Given the description of an element on the screen output the (x, y) to click on. 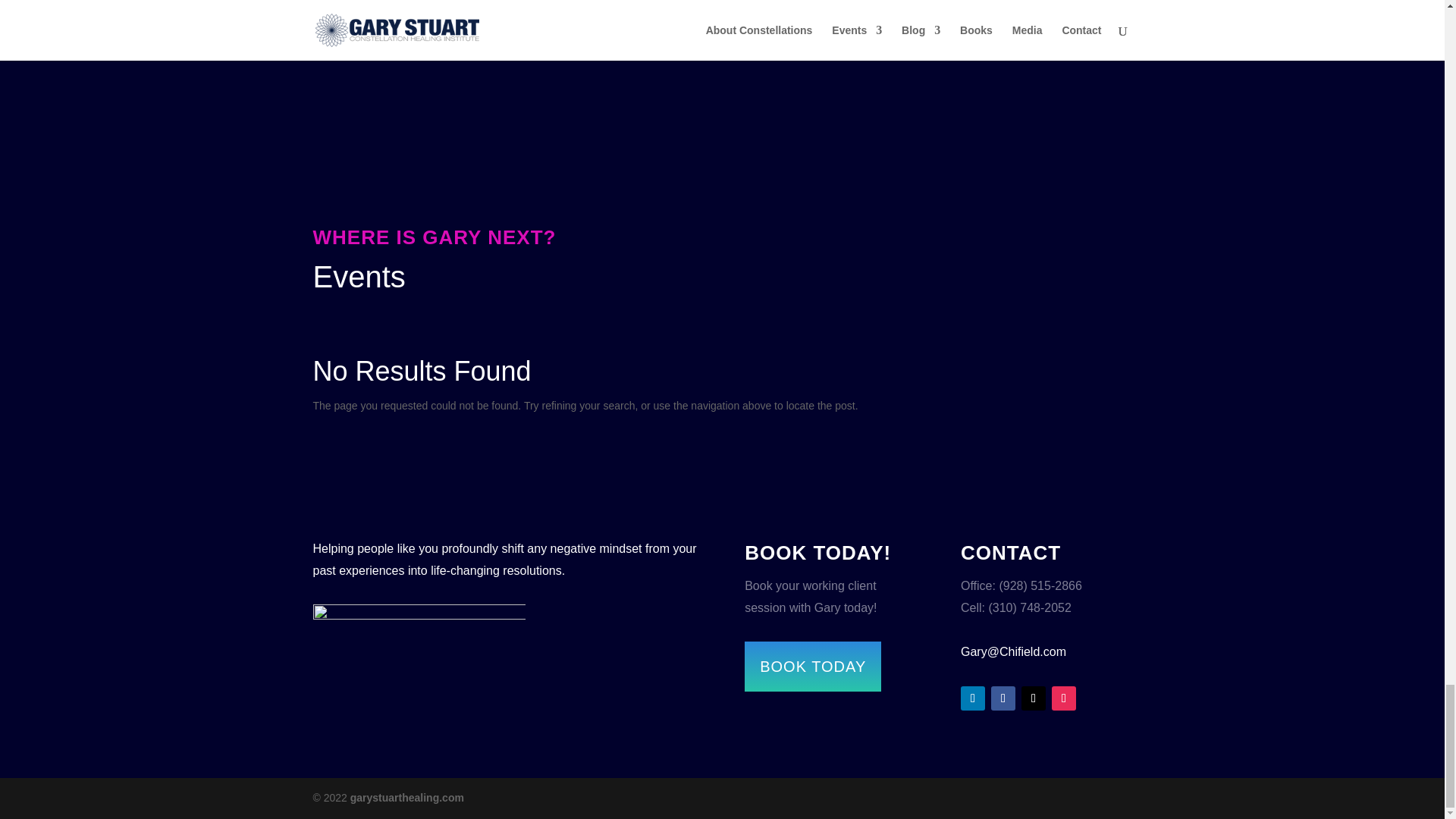
Follow on LinkedIn (972, 698)
Follow on X (1033, 698)
garystuarthealing.com (407, 797)
BOOK TODAY (812, 666)
Follow on Instagram (1063, 698)
Follow on Facebook (1002, 698)
